Given the description of an element on the screen output the (x, y) to click on. 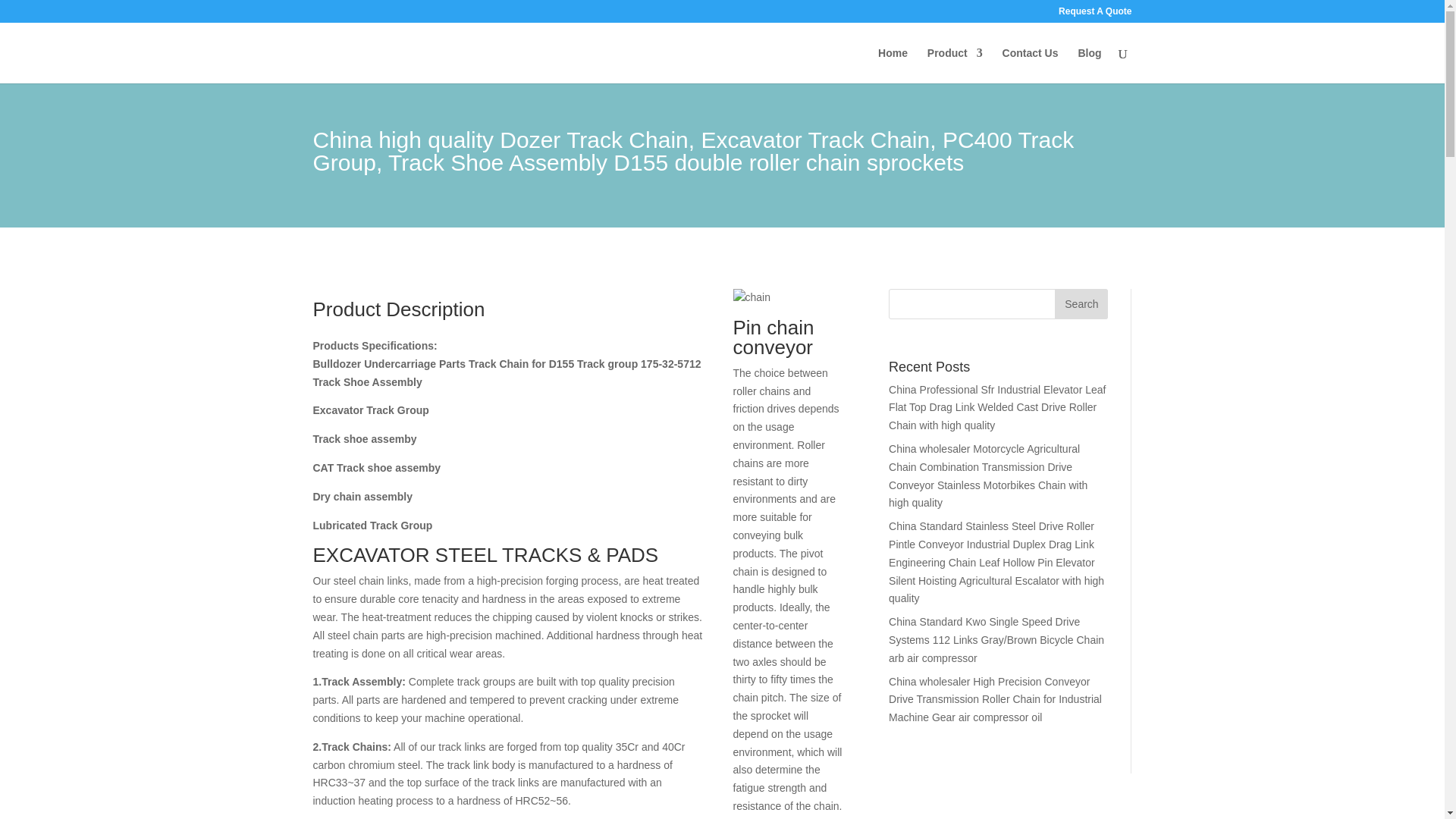
Contact Us (1030, 65)
Request A Quote (1094, 14)
Search (1081, 304)
Product (954, 65)
